Given the description of an element on the screen output the (x, y) to click on. 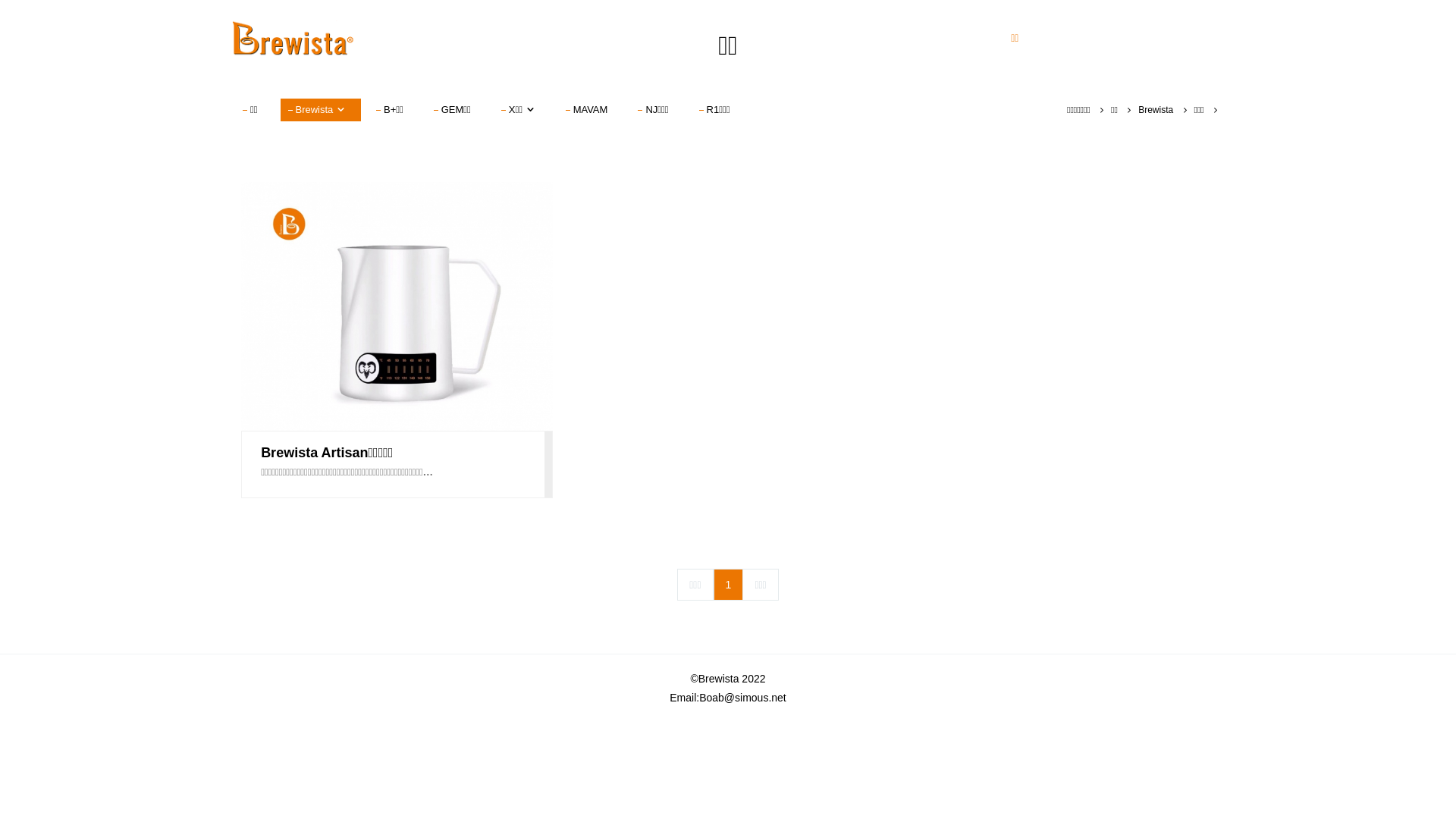
Brewista Element type: text (1155, 109)
MAVAM Element type: text (590, 109)
1 Element type: text (728, 584)
Brewista Element type: text (320, 109)
